Given the description of an element on the screen output the (x, y) to click on. 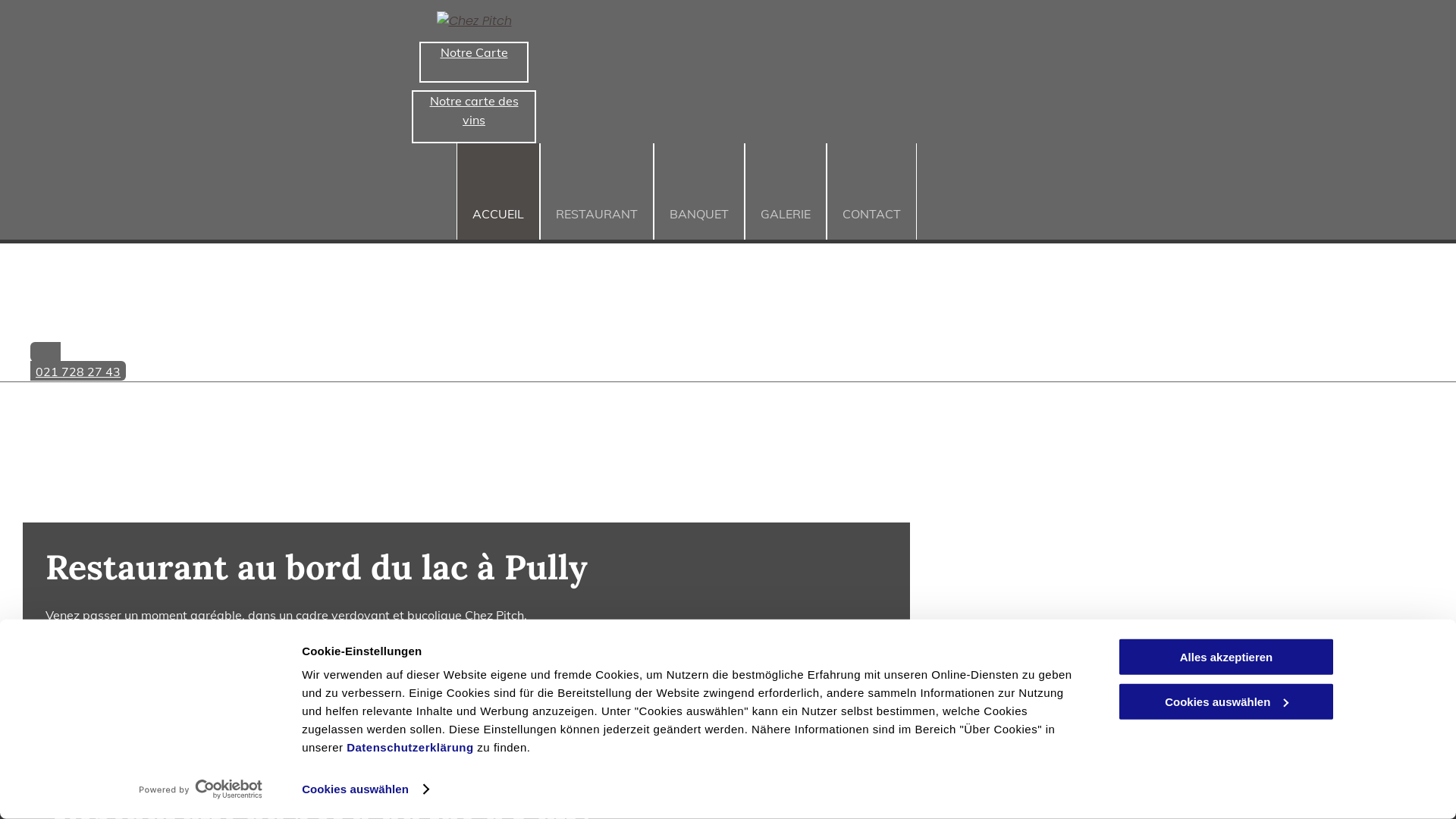
CONTACT Element type: text (871, 191)
GALERIE Element type: text (785, 191)
RESTAURANT Element type: text (596, 191)
ACCUEIL Element type: text (497, 191)
021 728 27 43 Element type: text (473, 361)
BANQUET Element type: text (698, 191)
Notre carte des vins Element type: text (473, 116)
Notre Carte Element type: text (473, 61)
Alles akzeptieren Element type: text (1225, 656)
